Given the description of an element on the screen output the (x, y) to click on. 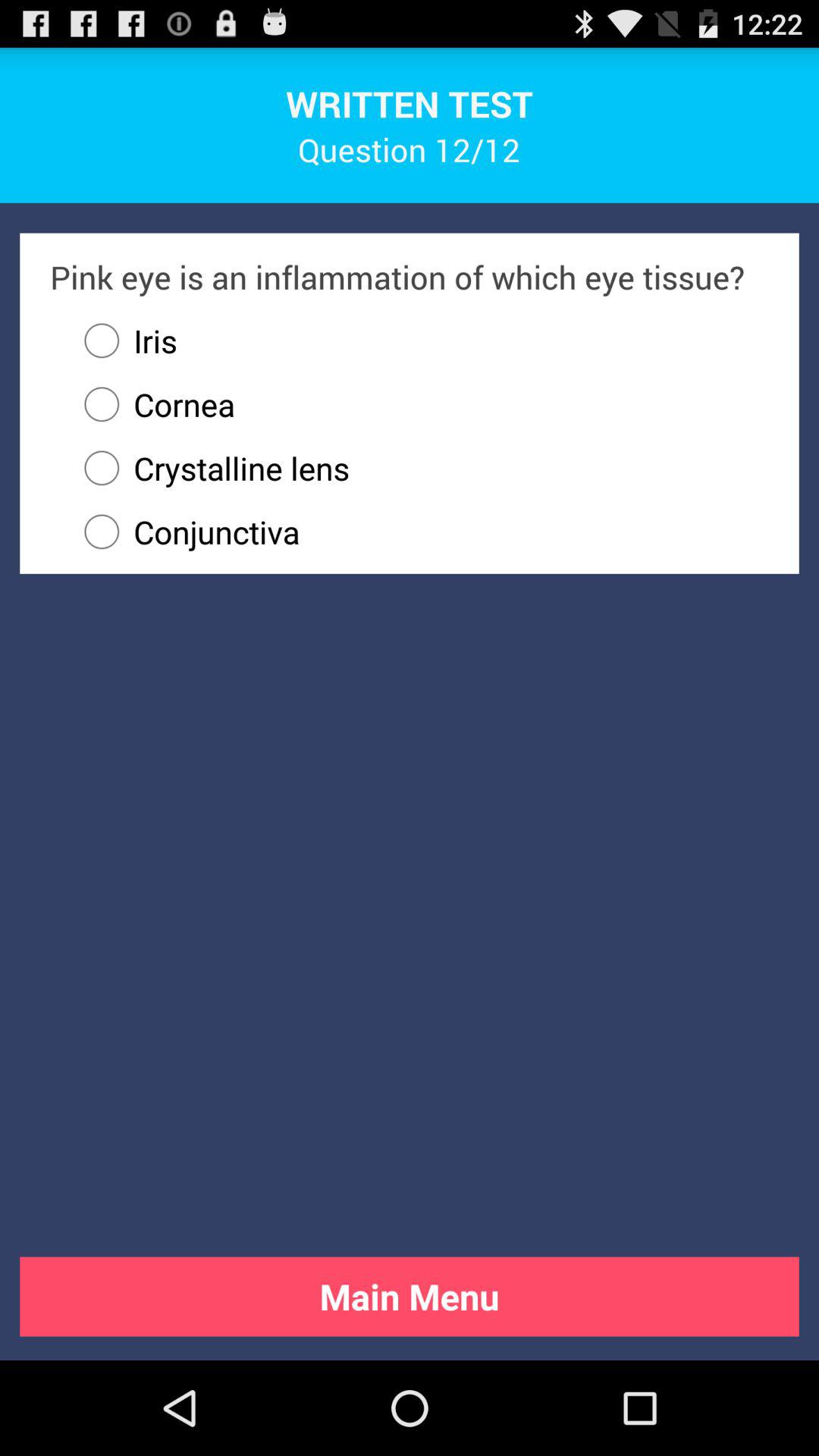
turn on the item below the cornea icon (418, 467)
